Given the description of an element on the screen output the (x, y) to click on. 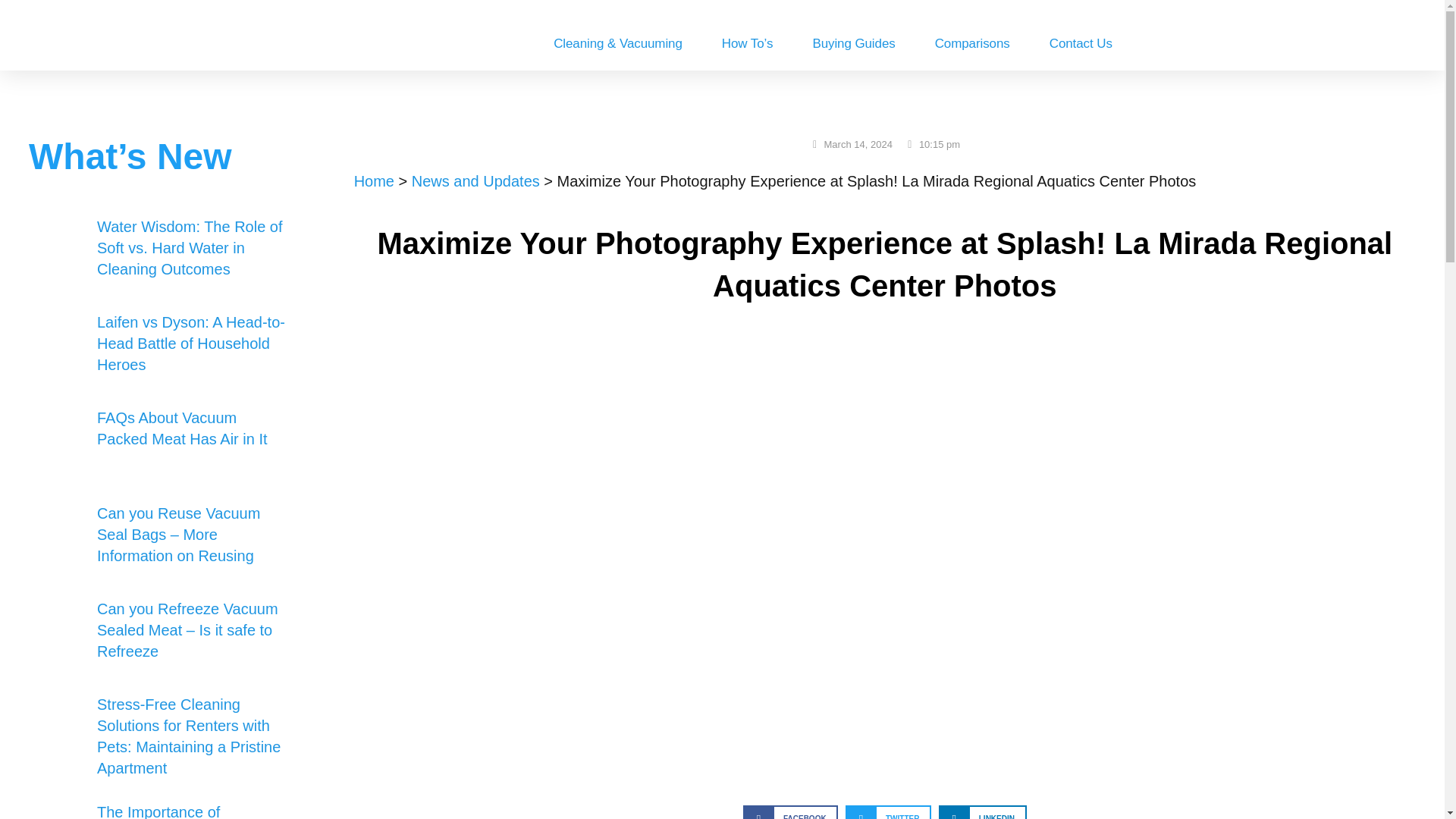
Comparisons (972, 43)
FAQs About Vacuum Packed Meat Has Air in It (182, 428)
Laifen vs Dyson: A Head-to-Head Battle of Household Heroes (191, 343)
March 14, 2024 (850, 144)
Home (373, 180)
Contact Us (1080, 43)
News and Updates (476, 180)
Laifen vs Dyson: A Head-to-Head Battle of Household Heroes 2 (57, 344)
FAQs About Vacuum Packed Meat Has Air in It 3 (57, 439)
Buying Guides (852, 43)
